Given the description of an element on the screen output the (x, y) to click on. 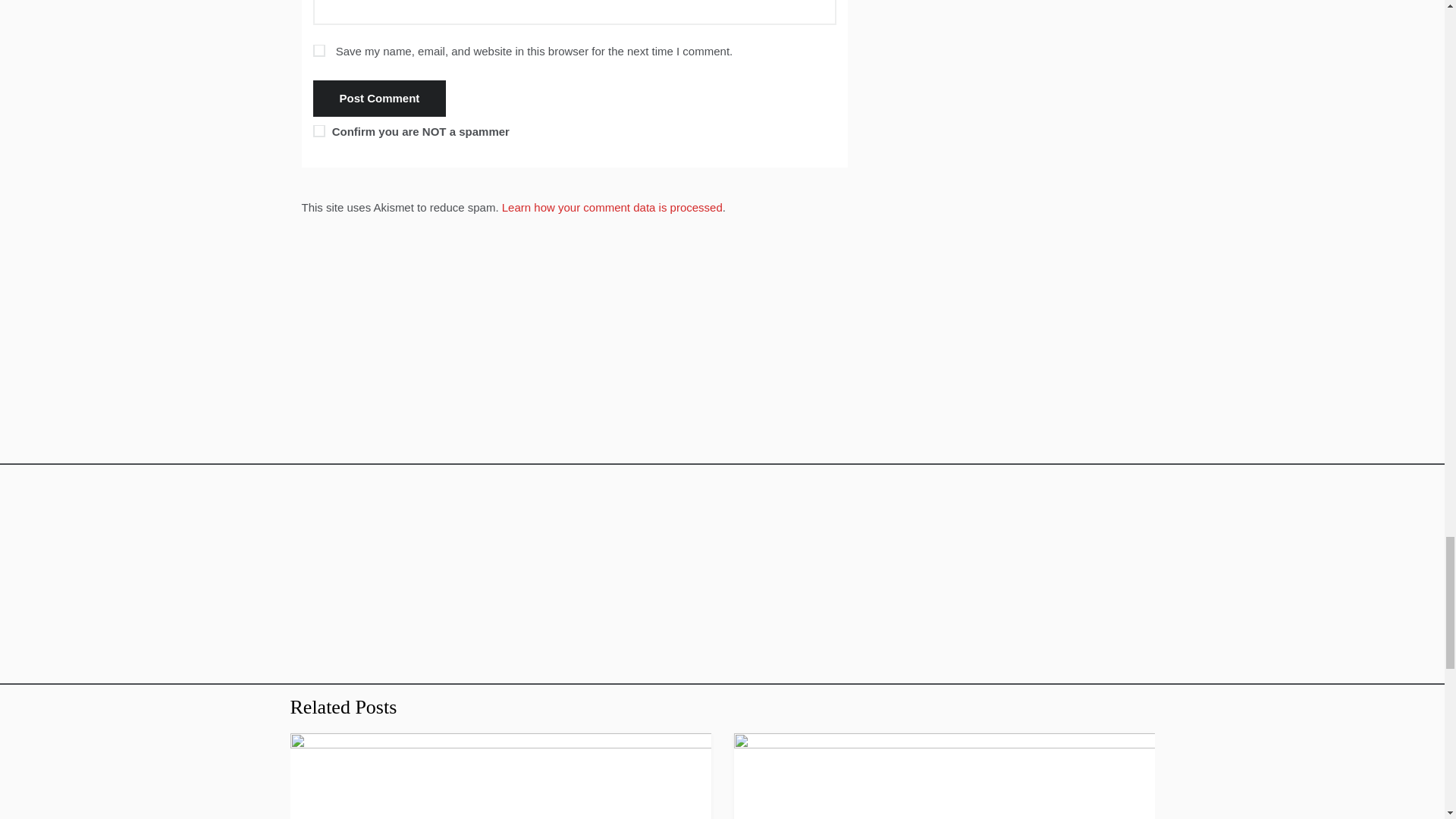
on (318, 131)
Post Comment (379, 98)
yes (318, 50)
